Given the description of an element on the screen output the (x, y) to click on. 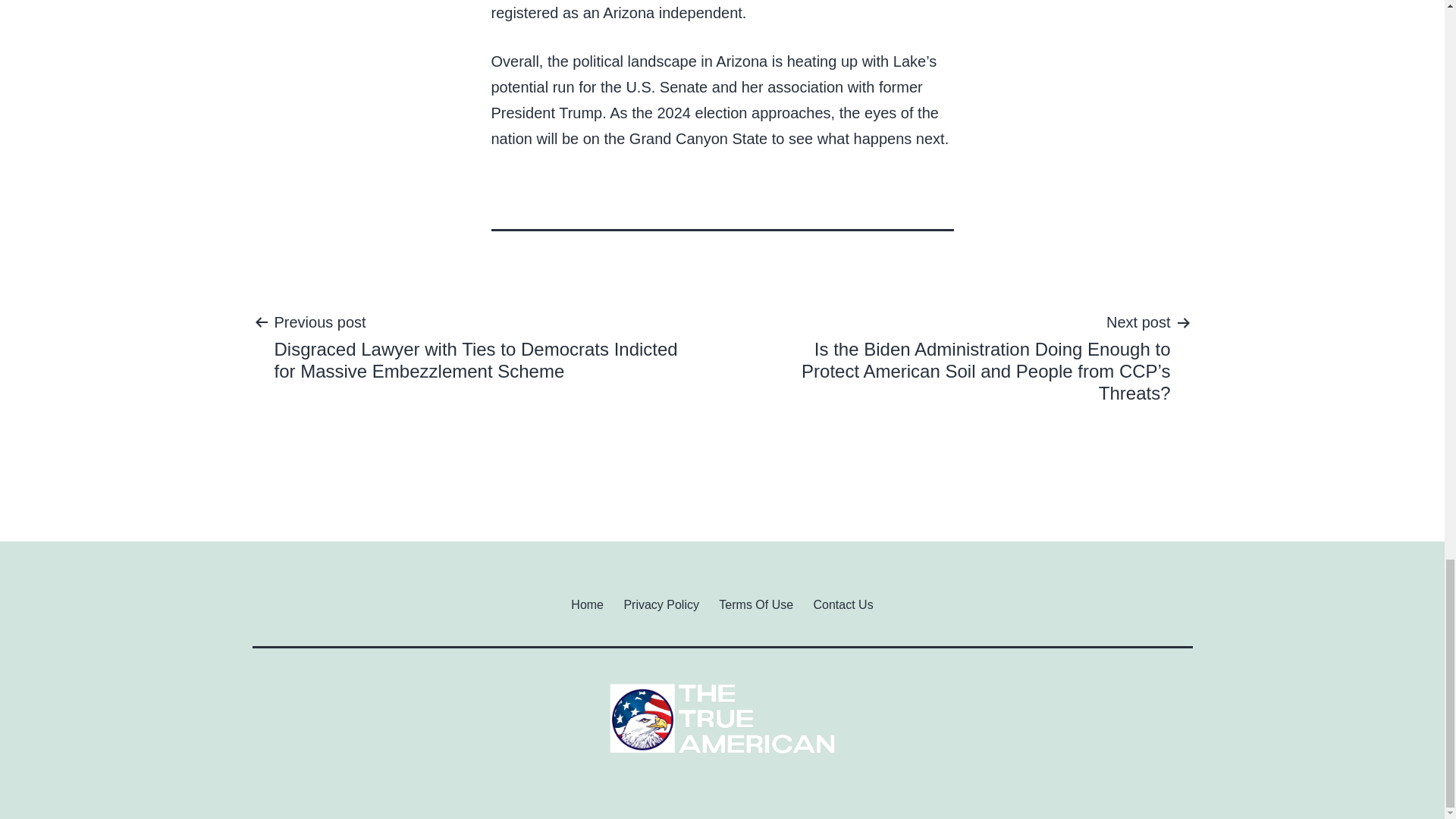
Contact Us (843, 604)
Terms Of Use (756, 604)
Home (586, 604)
Privacy Policy (660, 604)
